Given the description of an element on the screen output the (x, y) to click on. 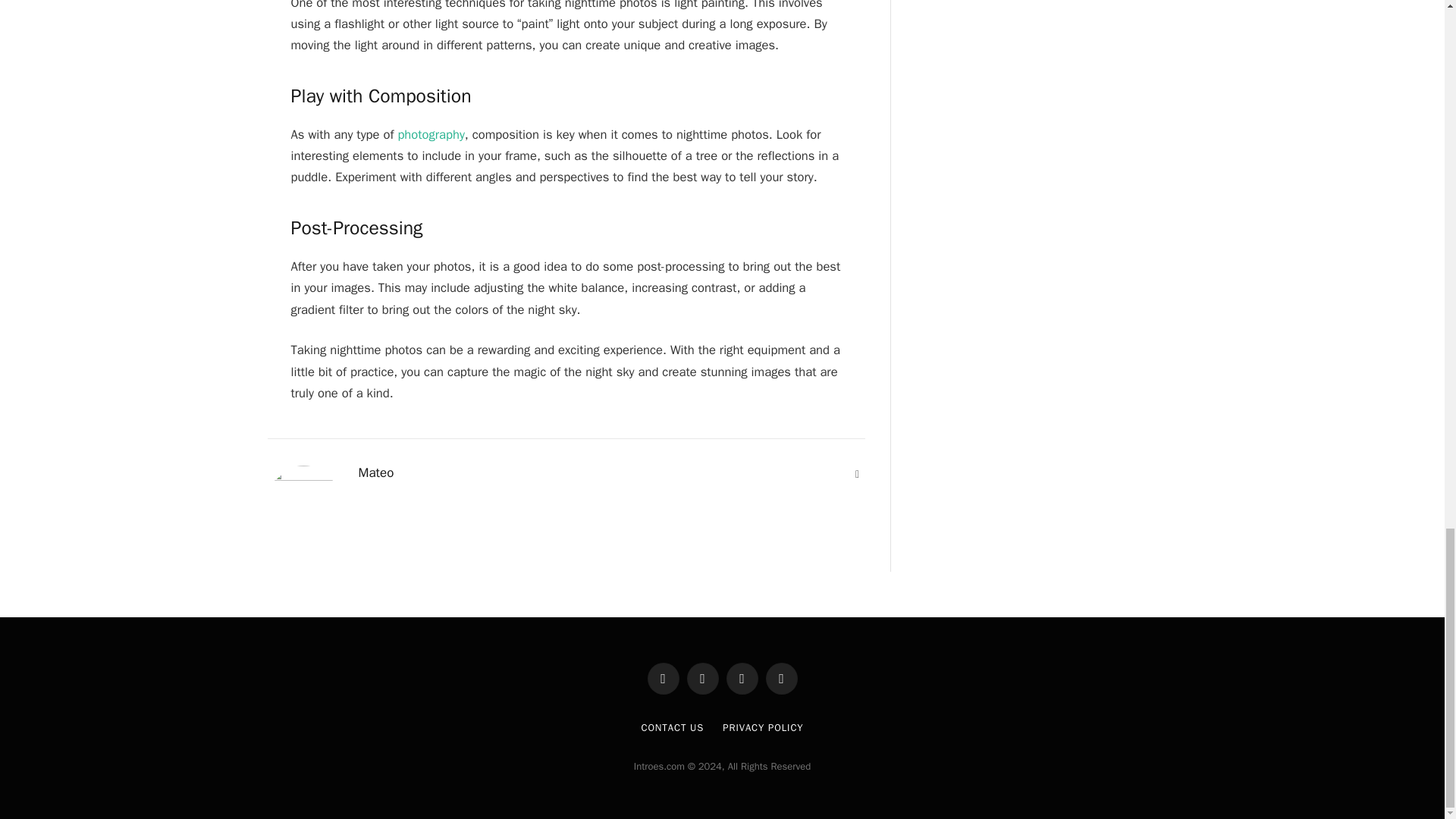
Website (856, 474)
photography (430, 134)
Mateo (375, 473)
Posts by Mateo (375, 473)
Website (856, 474)
